Given the description of an element on the screen output the (x, y) to click on. 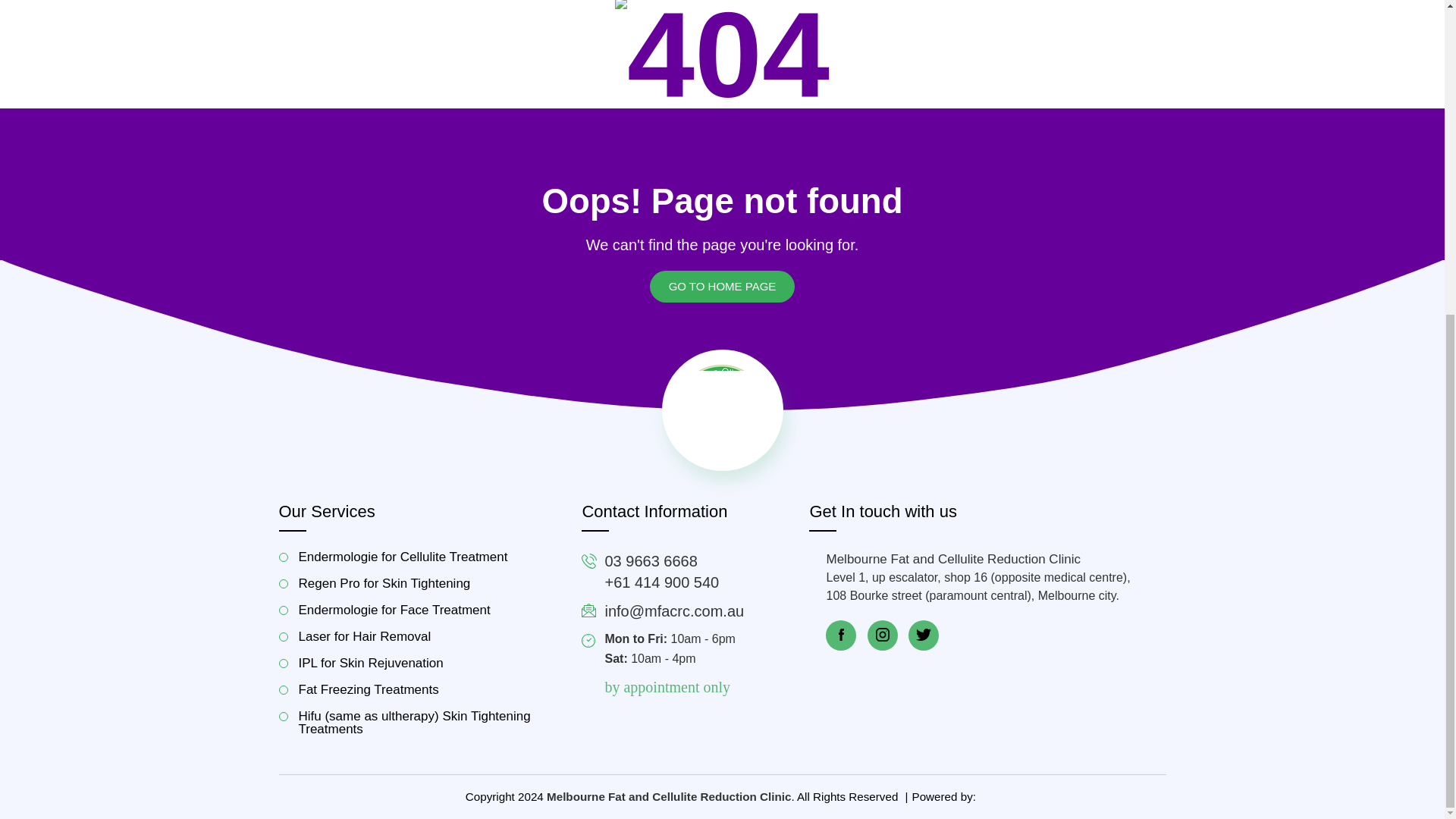
Melbourne Fat and Cellulite Reduction Clinic (722, 409)
Follow us on Facebook (840, 634)
Follow us on Instagram (882, 634)
Follow us on Twitter (923, 634)
Melbourne Fat and Cellulite Reduction Clinic (668, 796)
GO TO HOME PAGE (721, 286)
Endermologie for Cellulite Treatment (419, 556)
Email Us (674, 610)
